Given the description of an element on the screen output the (x, y) to click on. 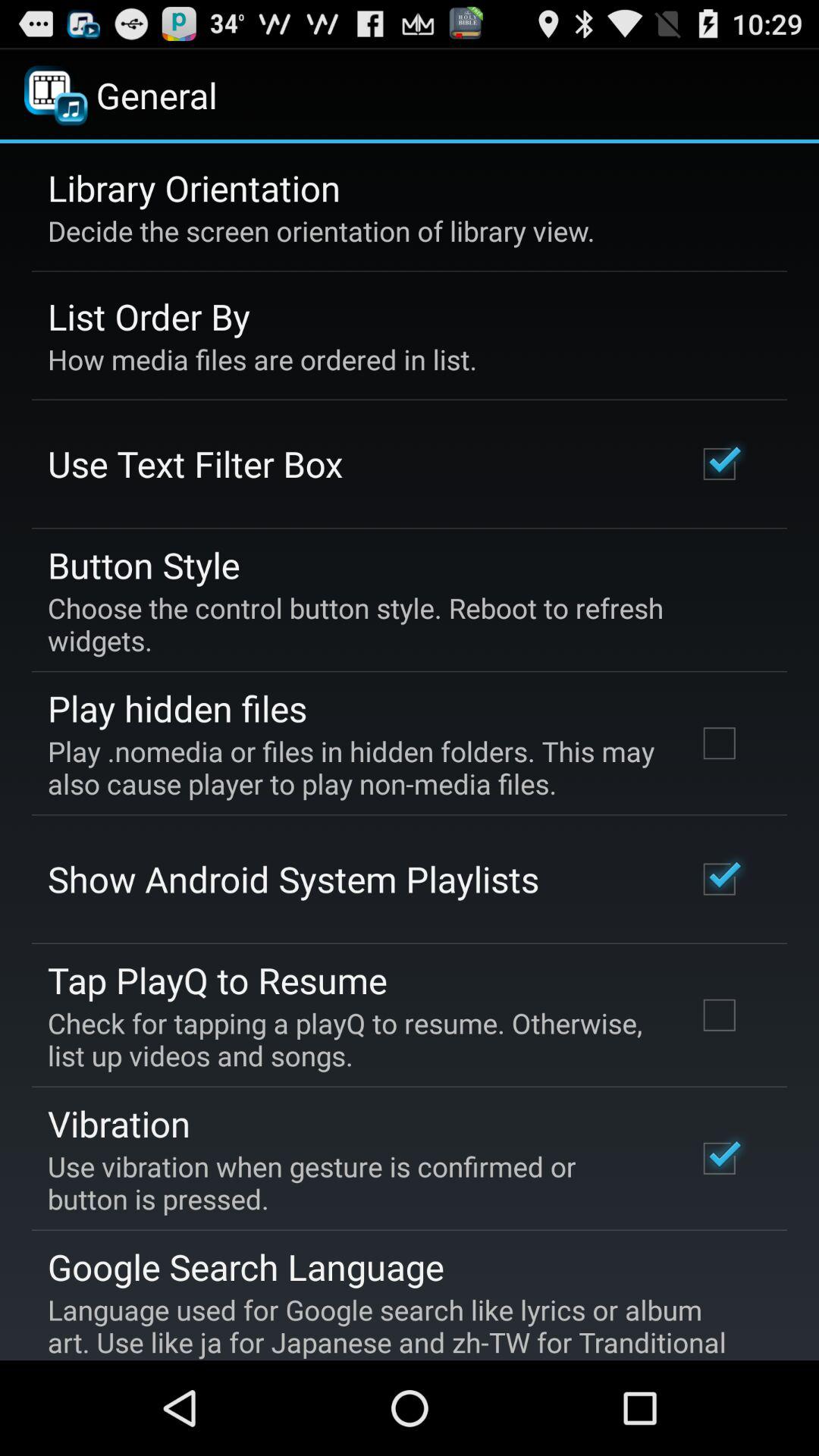
flip until the list order by (148, 316)
